Given the description of an element on the screen output the (x, y) to click on. 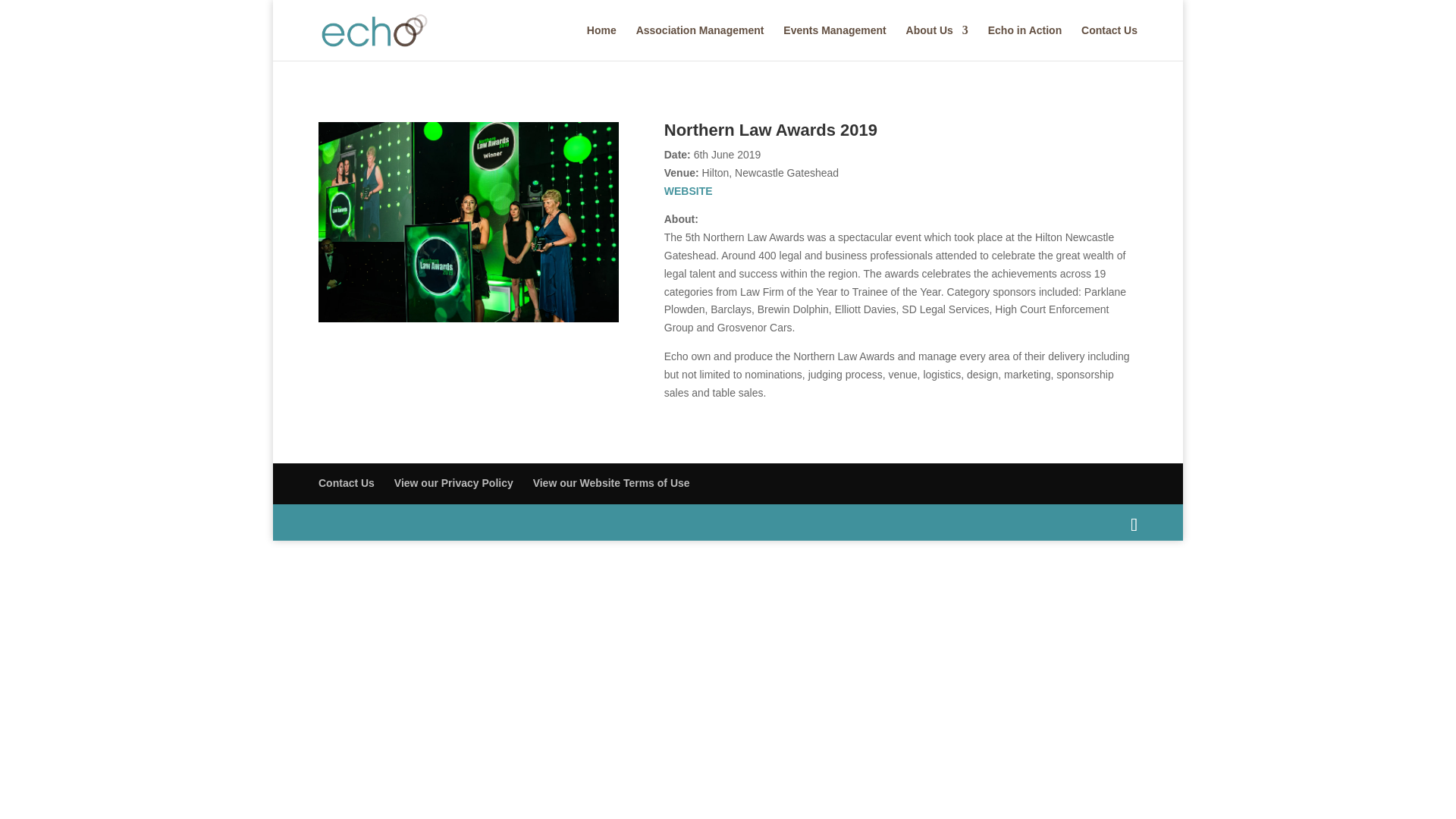
Contact Us (1109, 42)
WEBSITE (688, 191)
About Us (936, 42)
Events Management (834, 42)
View our Privacy Policy (453, 482)
Association Management (700, 42)
View our Website Terms of Use (611, 482)
Contact Us (346, 482)
Echo in Action (1024, 42)
